Given the description of an element on the screen output the (x, y) to click on. 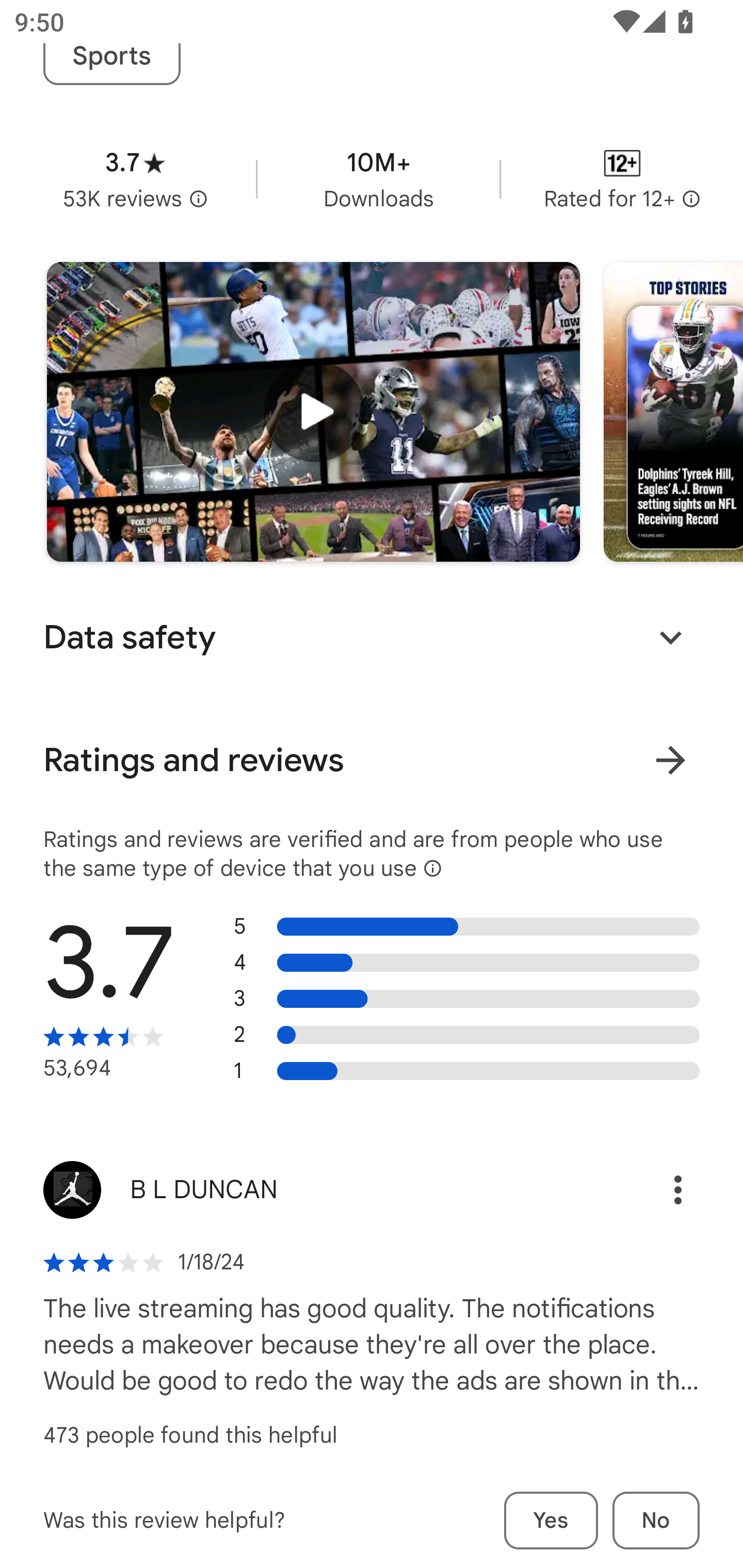
Average rating 3.7 stars in 53 thousand reviews (135, 178)
Content rating Rated for 12+ (622, 178)
Play trailer for "FOX Sports: Watch Live" (313, 411)
Data safety Expand (371, 637)
Expand (670, 637)
Ratings and reviews View all ratings and reviews (371, 760)
View all ratings and reviews (670, 759)
Options (655, 1190)
Yes (550, 1520)
No (655, 1520)
